Given the description of an element on the screen output the (x, y) to click on. 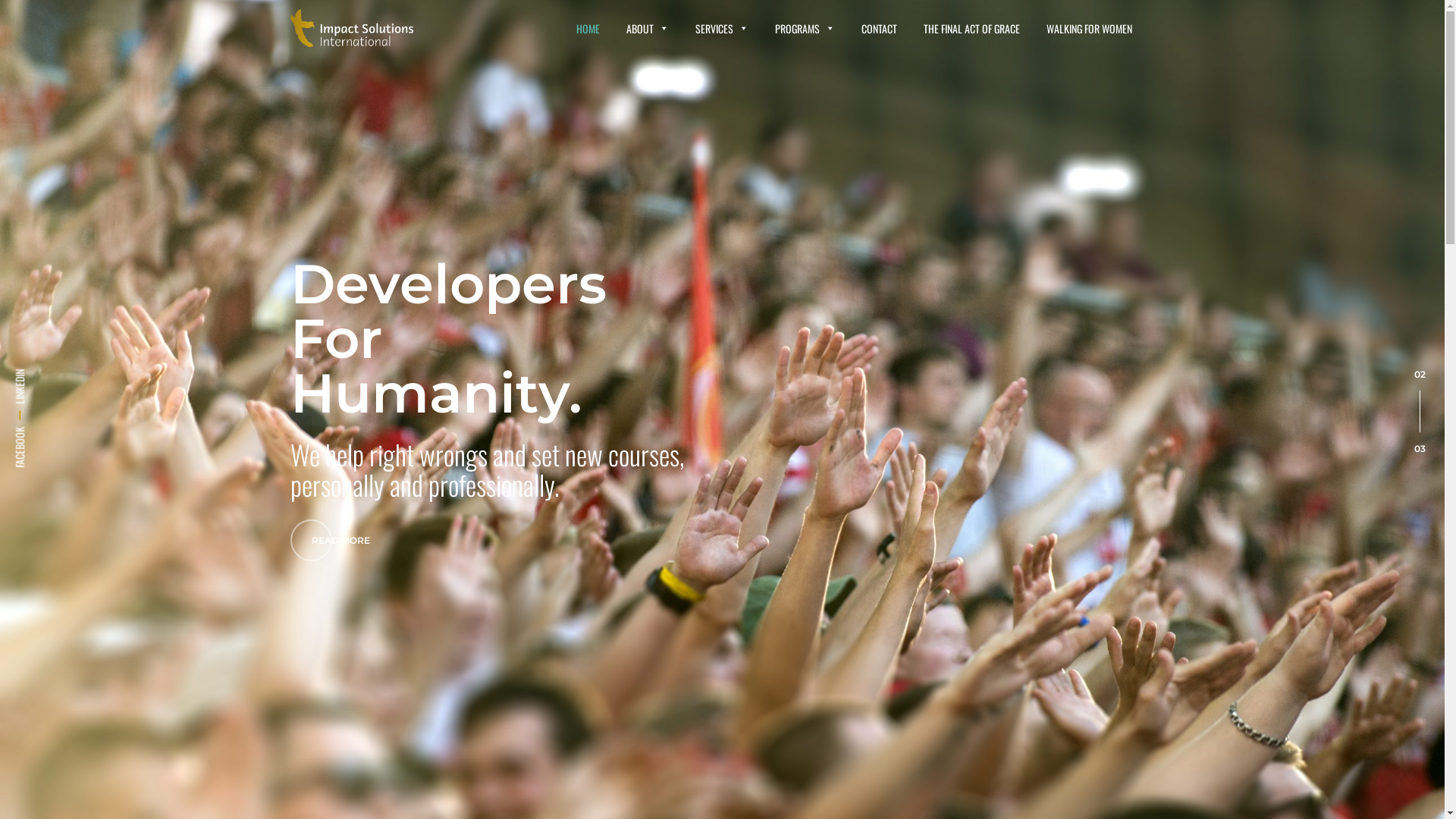
THE FINAL ACT OF GRACE Element type: text (971, 28)
WALKING FOR WOMEN Element type: text (1089, 28)
LINKEDIN Element type: text (29, 377)
FACEBOOK Element type: text (32, 434)
PROGRAMS Element type: text (804, 28)
READ MORE Element type: text (339, 542)
SERVICES Element type: text (720, 28)
HOME Element type: text (587, 28)
ABOUT Element type: text (647, 28)
CONTACT Element type: text (879, 28)
